Given the description of an element on the screen output the (x, y) to click on. 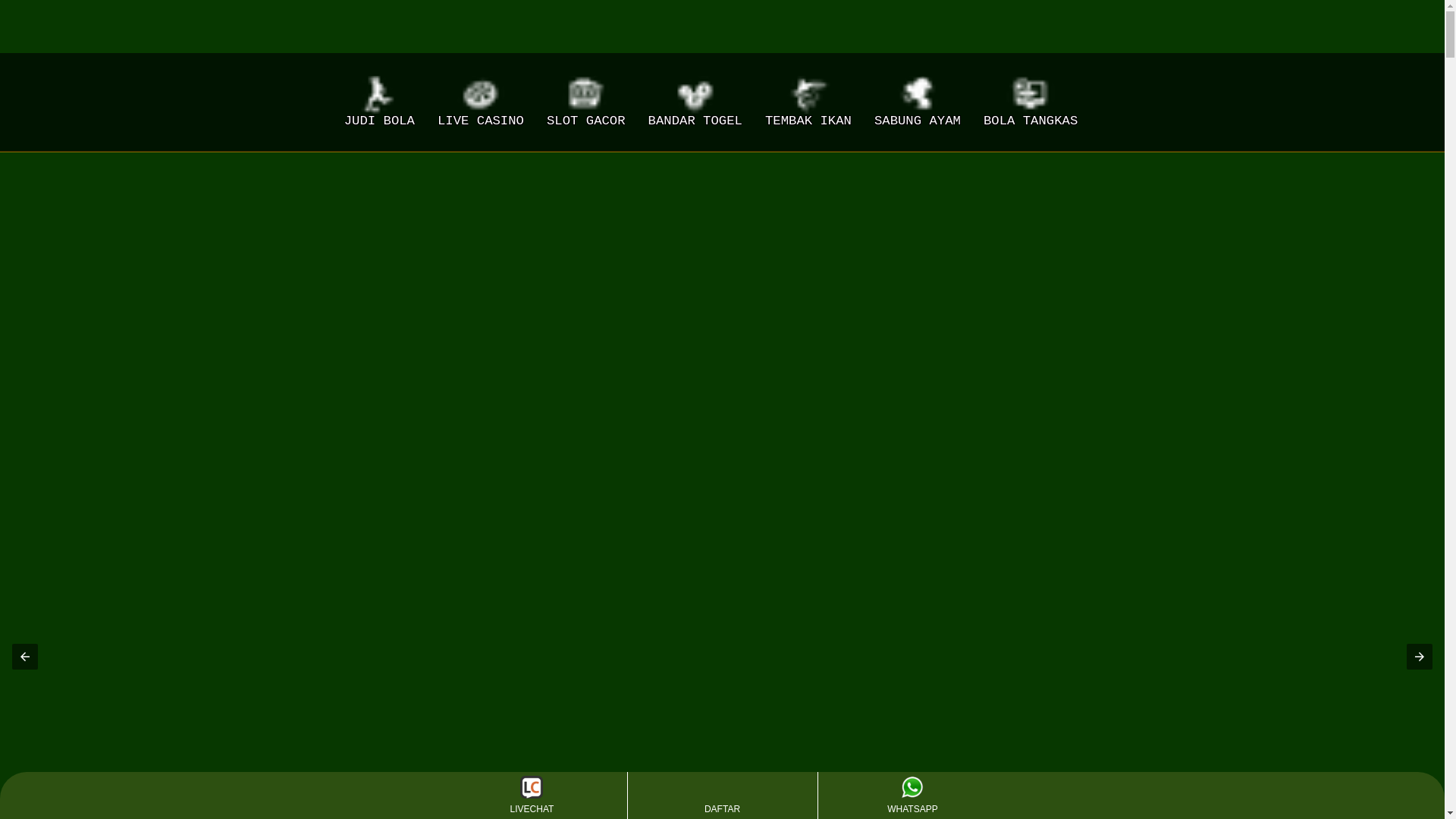
LIVECHAT Element type: text (532, 794)
Previous item in carousel (1 of 3) Element type: hover (24, 656)
LIVE CASINO Element type: text (480, 101)
WHATSAPP Element type: text (912, 794)
TEMBAK IKAN Element type: text (808, 101)
Next item in carousel (3 of 3) Element type: hover (1419, 656)
DAFTAR Element type: text (722, 794)
JUDI BOLA Element type: text (379, 101)
SABUNG AYAM Element type: text (917, 101)
BANDAR TOGEL Element type: text (695, 101)
BOLA TANGKAS Element type: text (1030, 101)
SLOT GACOR Element type: text (585, 101)
